Given the description of an element on the screen output the (x, y) to click on. 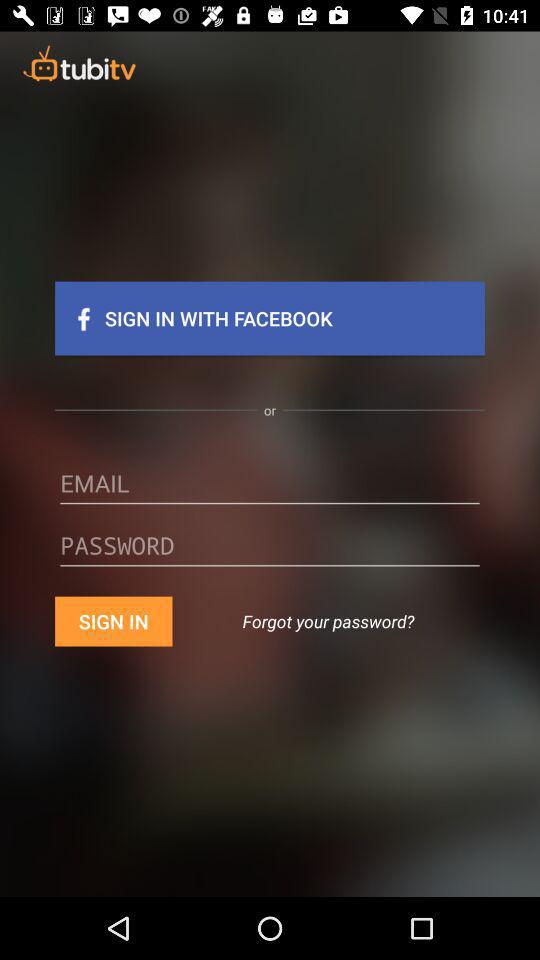
password field (269, 552)
